Given the description of an element on the screen output the (x, y) to click on. 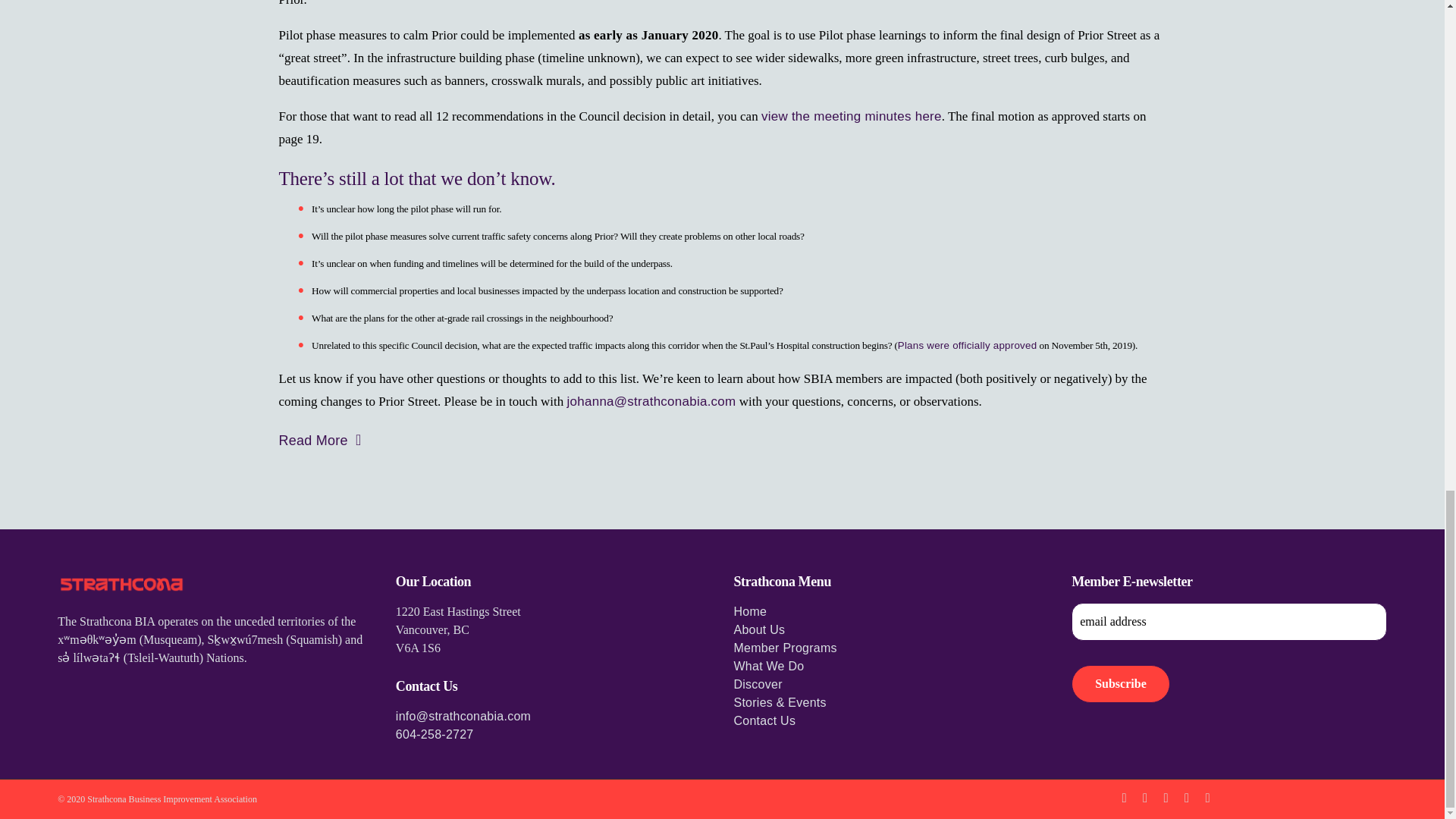
Subscribe (1120, 683)
